Given the description of an element on the screen output the (x, y) to click on. 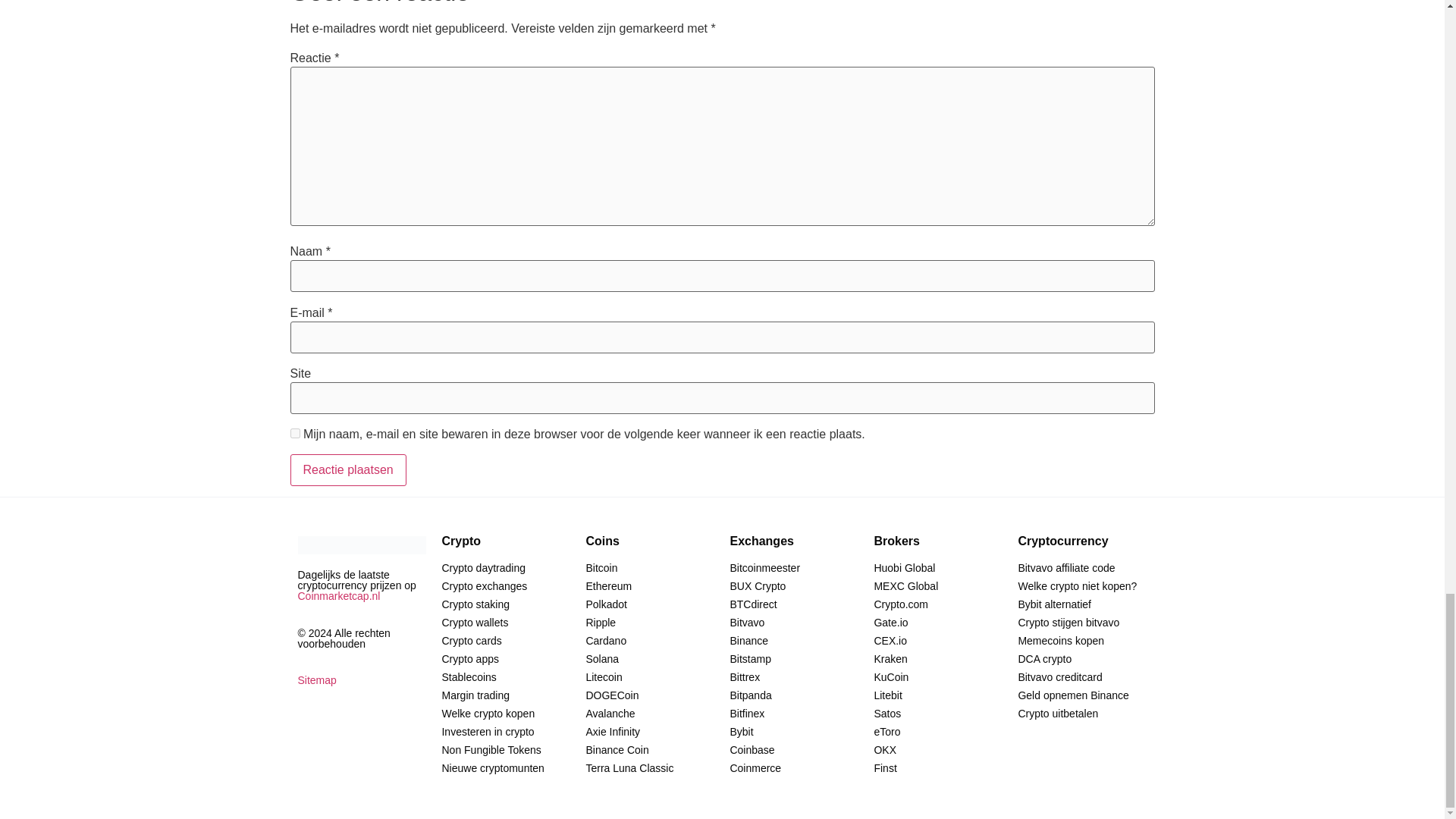
Reactie plaatsen (347, 470)
yes (294, 433)
